Given the description of an element on the screen output the (x, y) to click on. 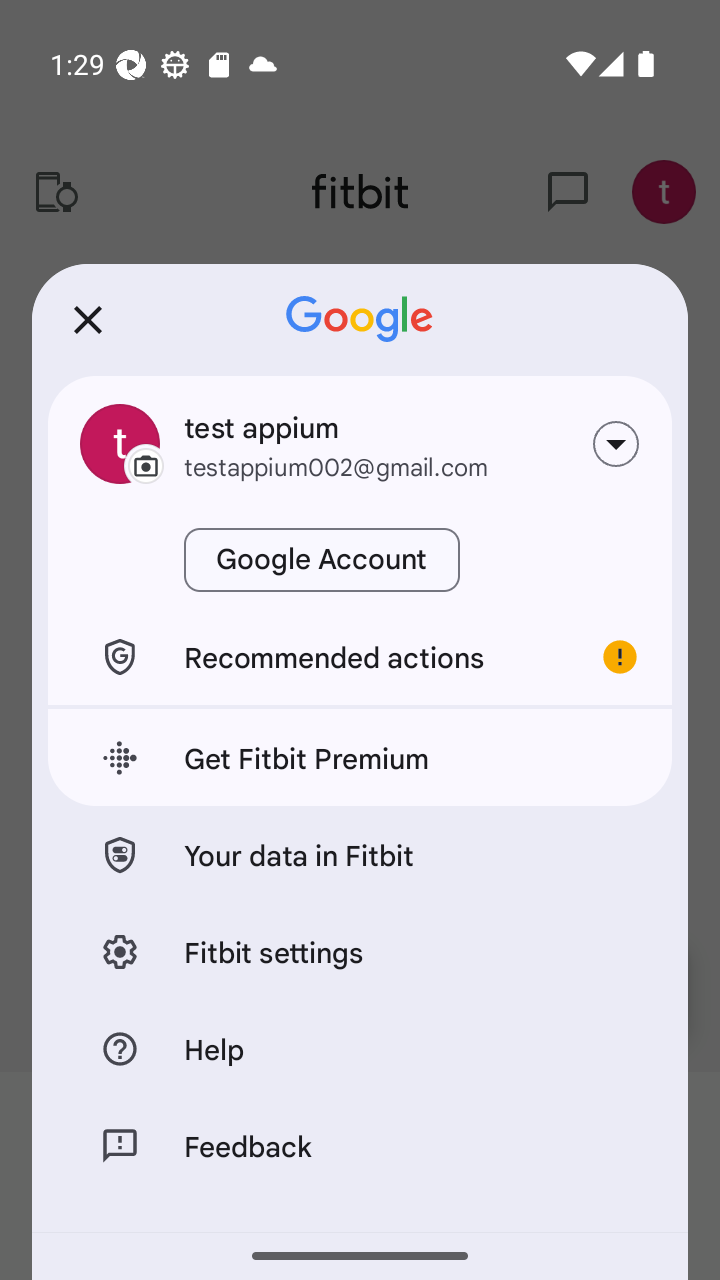
Close (87, 319)
Change profile picture. (119, 443)
Google Account (322, 560)
Recommended actions Important account alert (359, 656)
Get Fitbit Premium (359, 757)
Your data in Fitbit (360, 854)
Fitbit settings (360, 950)
Help (360, 1047)
Feedback (360, 1145)
